Given the description of an element on the screen output the (x, y) to click on. 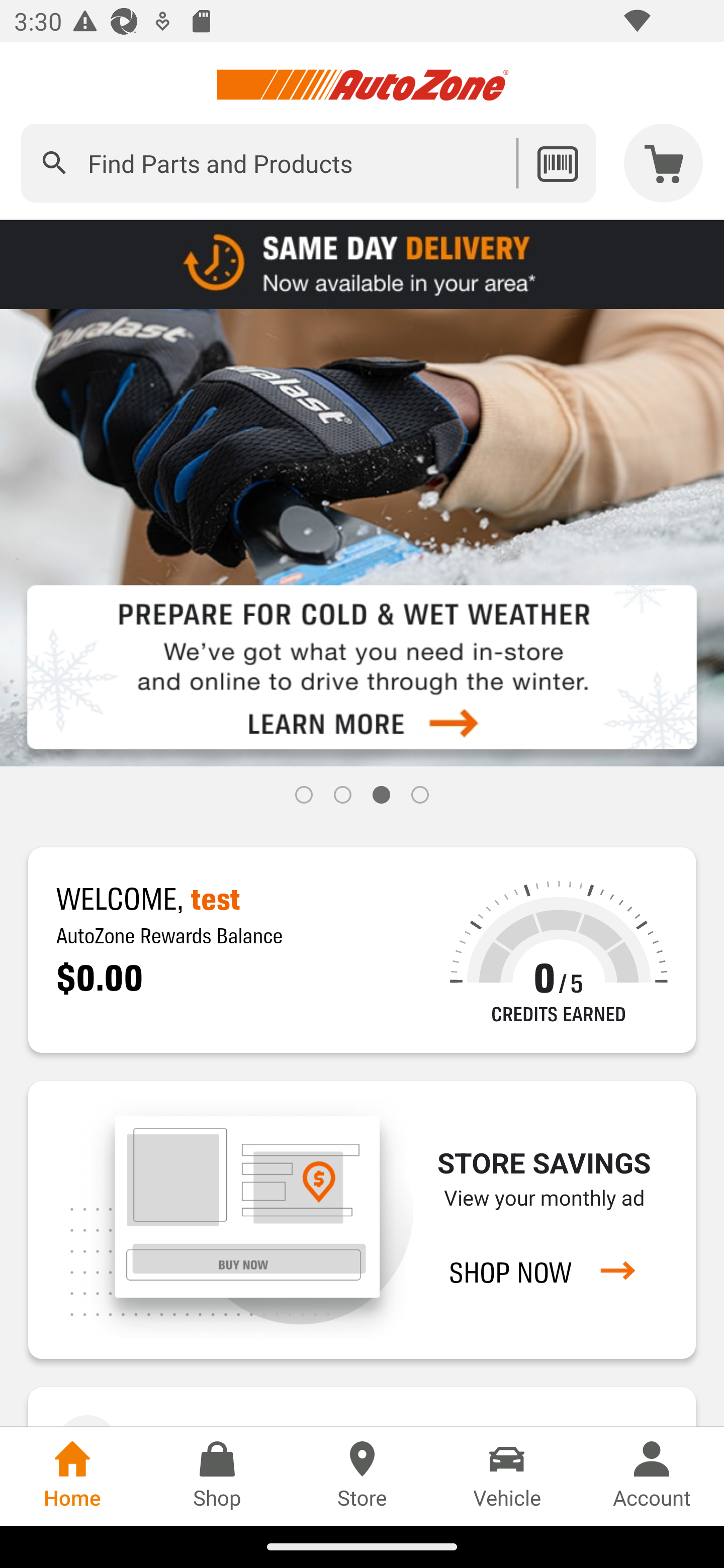
 scan-product-to-search  (557, 162)
 (54, 163)
Cart, no items  (663, 162)
Same Day Delivery - now available in your area* (362, 262)
Home (72, 1475)
Shop (216, 1475)
Store (361, 1475)
Vehicle (506, 1475)
Account (651, 1475)
